Given the description of an element on the screen output the (x, y) to click on. 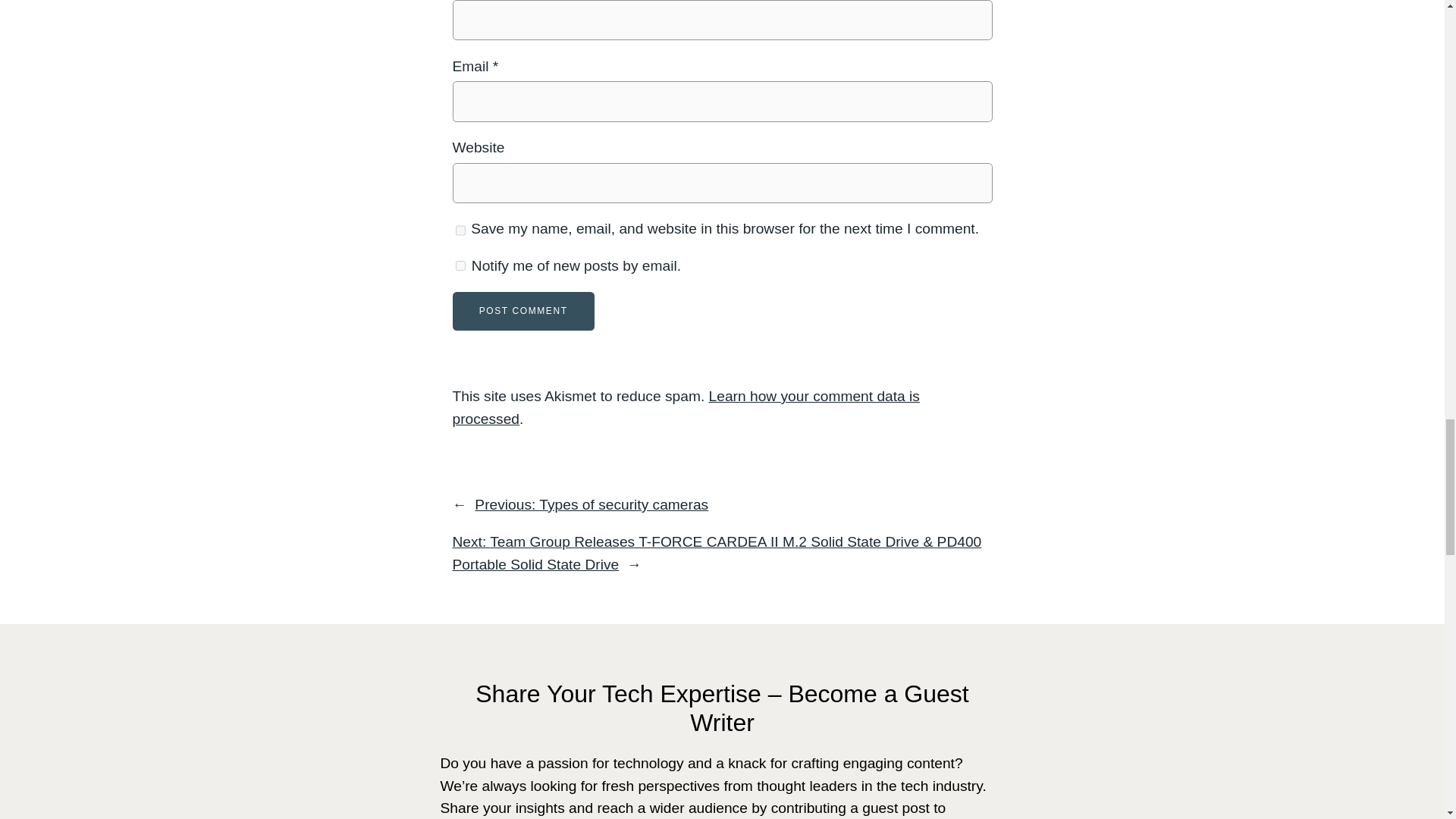
Post Comment (522, 310)
Learn how your comment data is processed (684, 407)
Post Comment (522, 310)
subscribe (459, 266)
Previous: Types of security cameras (590, 504)
